Given the description of an element on the screen output the (x, y) to click on. 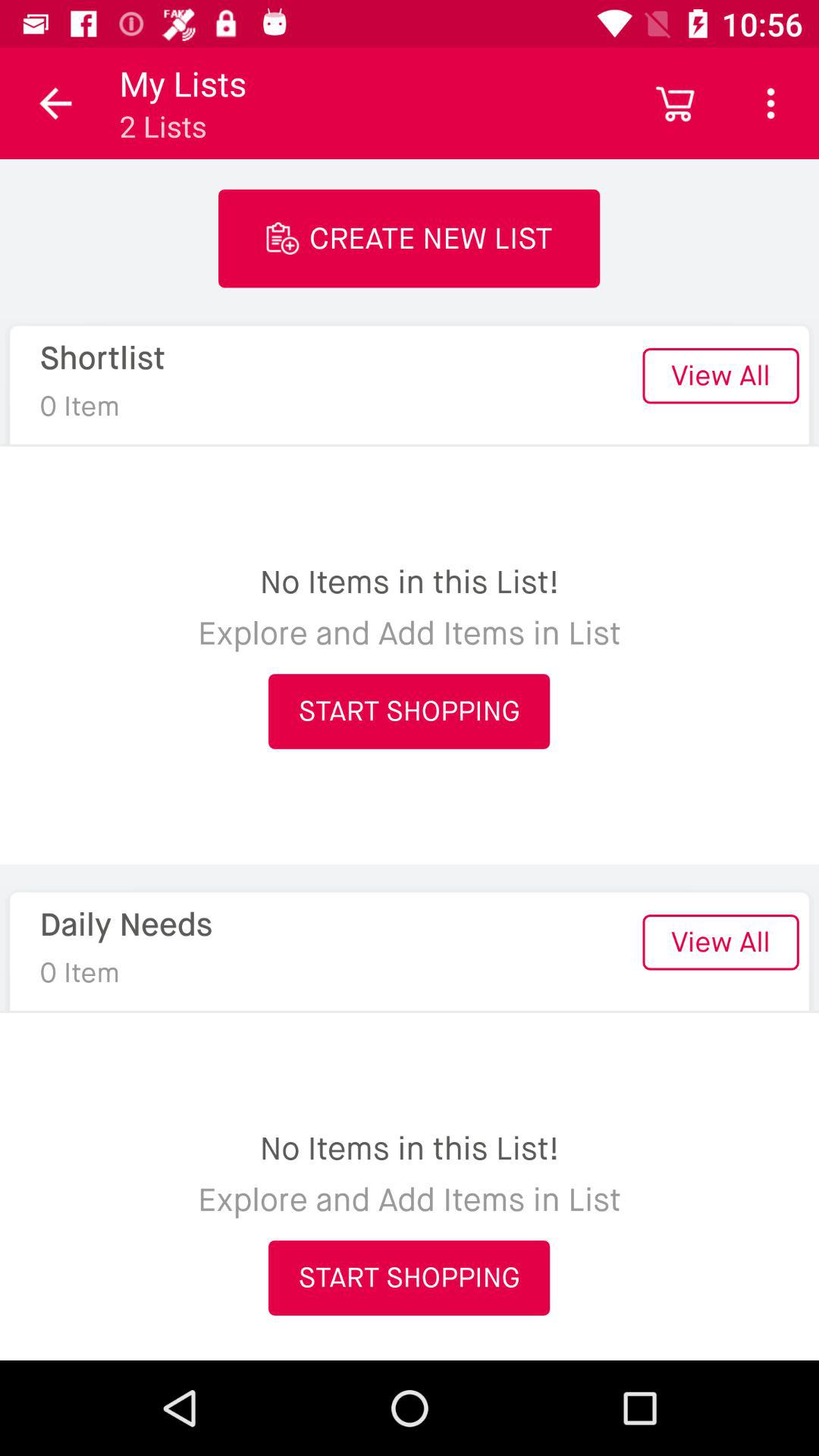
turn off icon above the shortlist (55, 103)
